Given the description of an element on the screen output the (x, y) to click on. 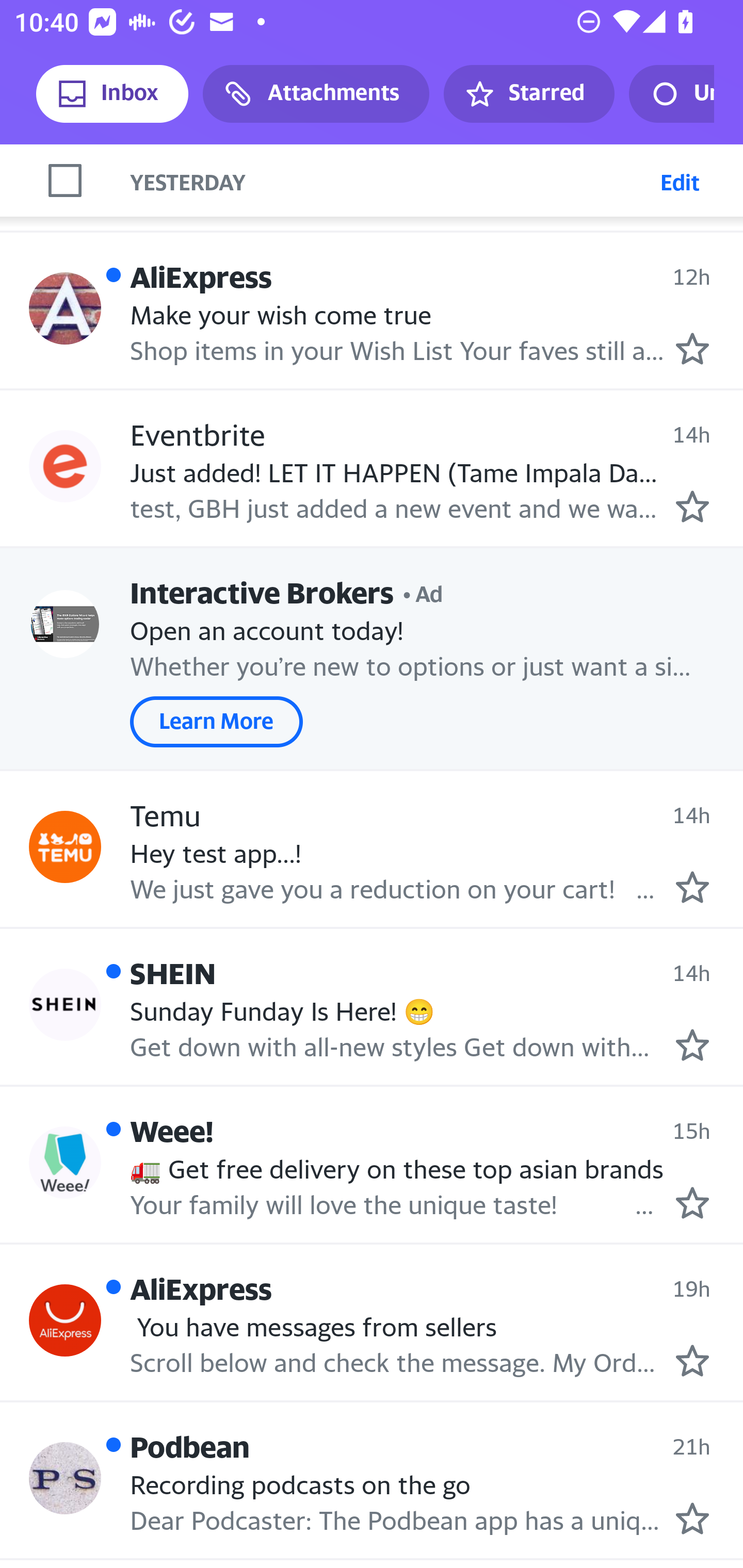
Attachments (315, 93)
Starred (528, 93)
Profile
AliExpress (64, 308)
Mark as starred. (692, 348)
Profile
Eventbrite (64, 465)
Mark as starred. (692, 507)
Profile
Temu (64, 846)
Mark as starred. (692, 886)
Profile
SHEIN (64, 1005)
Mark as starred. (692, 1045)
Profile
Weee! (64, 1161)
Mark as starred. (692, 1203)
Profile
AliExpress (64, 1320)
Mark as starred. (692, 1360)
Profile
Podbean (64, 1478)
Mark as starred. (692, 1518)
